Given the description of an element on the screen output the (x, y) to click on. 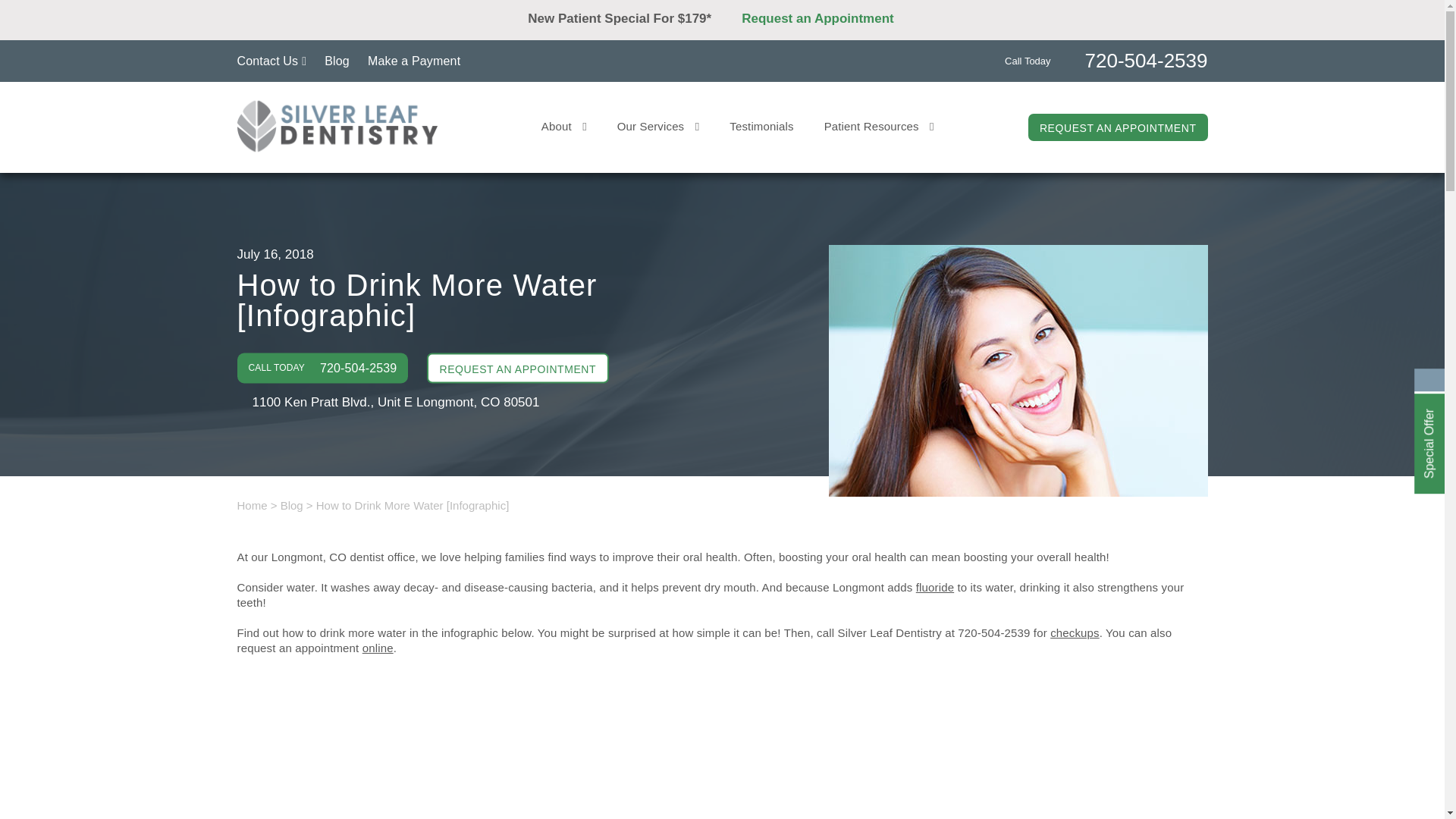
Request an Appointment (829, 18)
Blog (336, 60)
Our Services (658, 126)
Call Today720-504-2539 (1105, 59)
Make a Payment (414, 60)
Contact Us (270, 60)
Request an Appointment (862, 33)
